Given the description of an element on the screen output the (x, y) to click on. 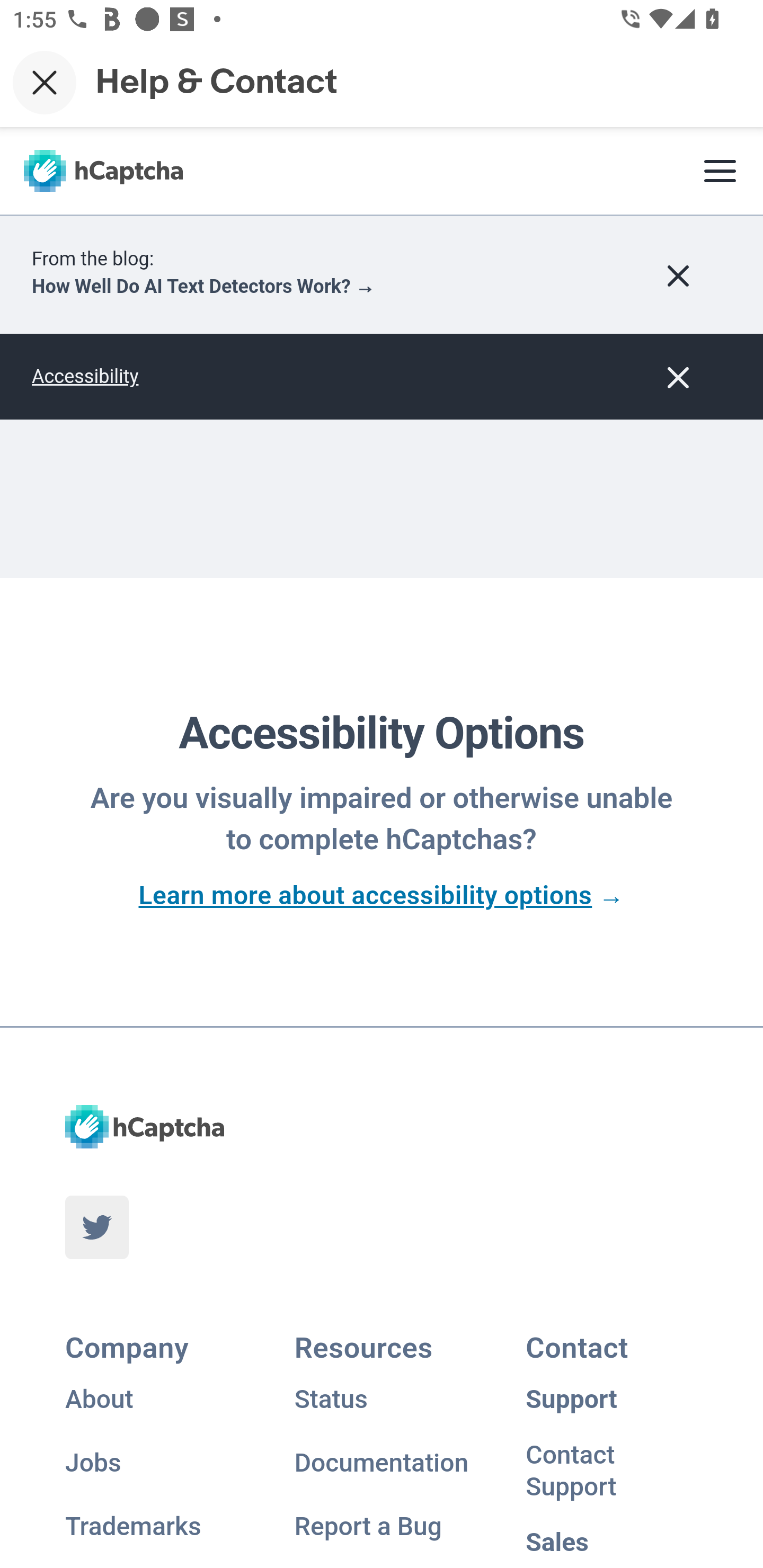
Close (44, 82)
hCaptcha home page hCaptcha logo (horizontal) (103, 170)
How Well Do AI Text Detectors Work? → (203, 286)
Learn more about accessibility options → (381, 894)
homepage link (144, 1126)
twitter (96, 1227)
twitter (96, 1227)
About (151, 1398)
Status (381, 1398)
Support (611, 1398)
Contact Support (611, 1474)
Jobs (151, 1462)
Documentation (381, 1462)
Trademarks (151, 1525)
Report a Bug (381, 1525)
Sales (611, 1541)
